Given the description of an element on the screen output the (x, y) to click on. 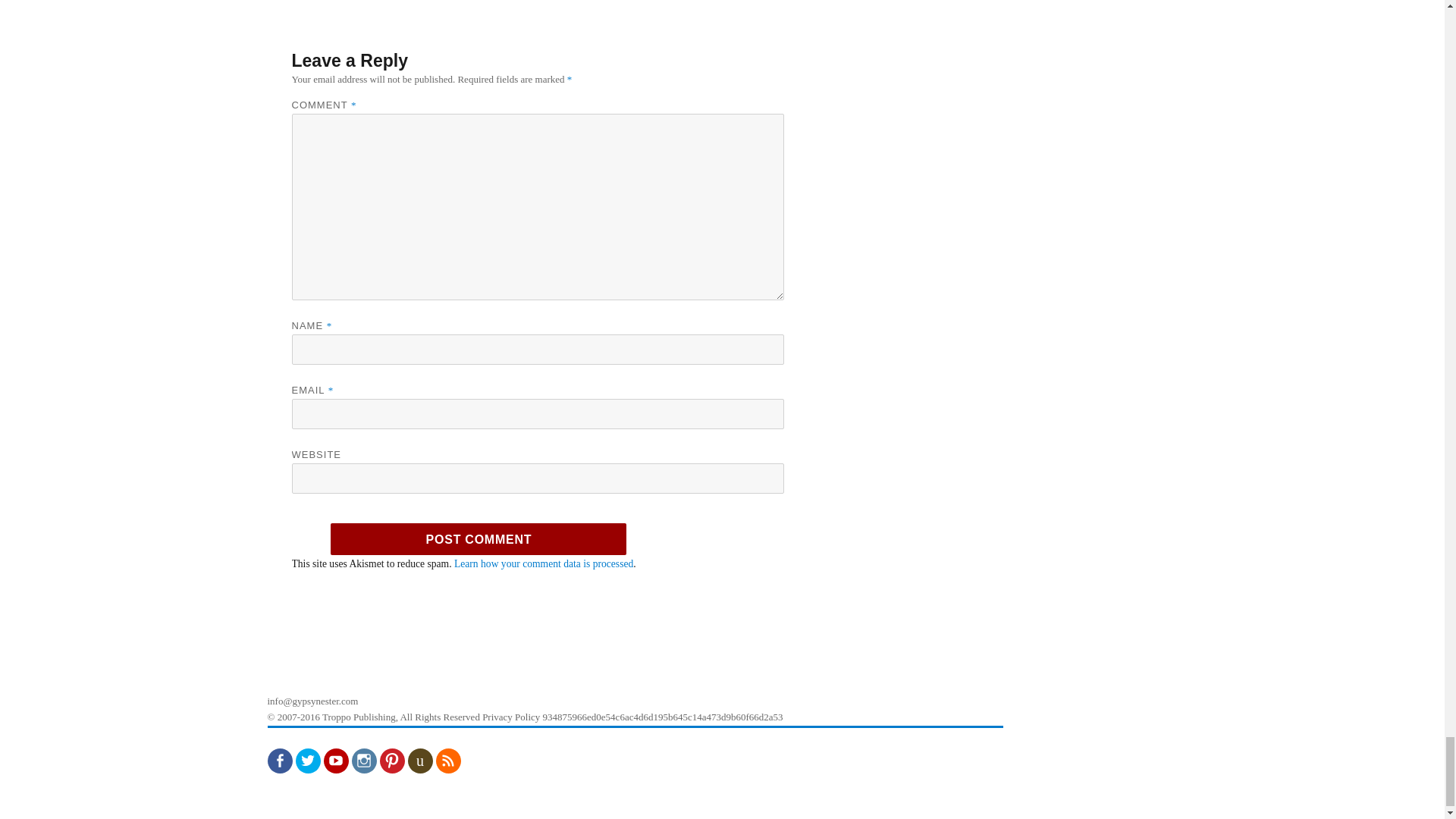
Post Comment (478, 539)
